Given the description of an element on the screen output the (x, y) to click on. 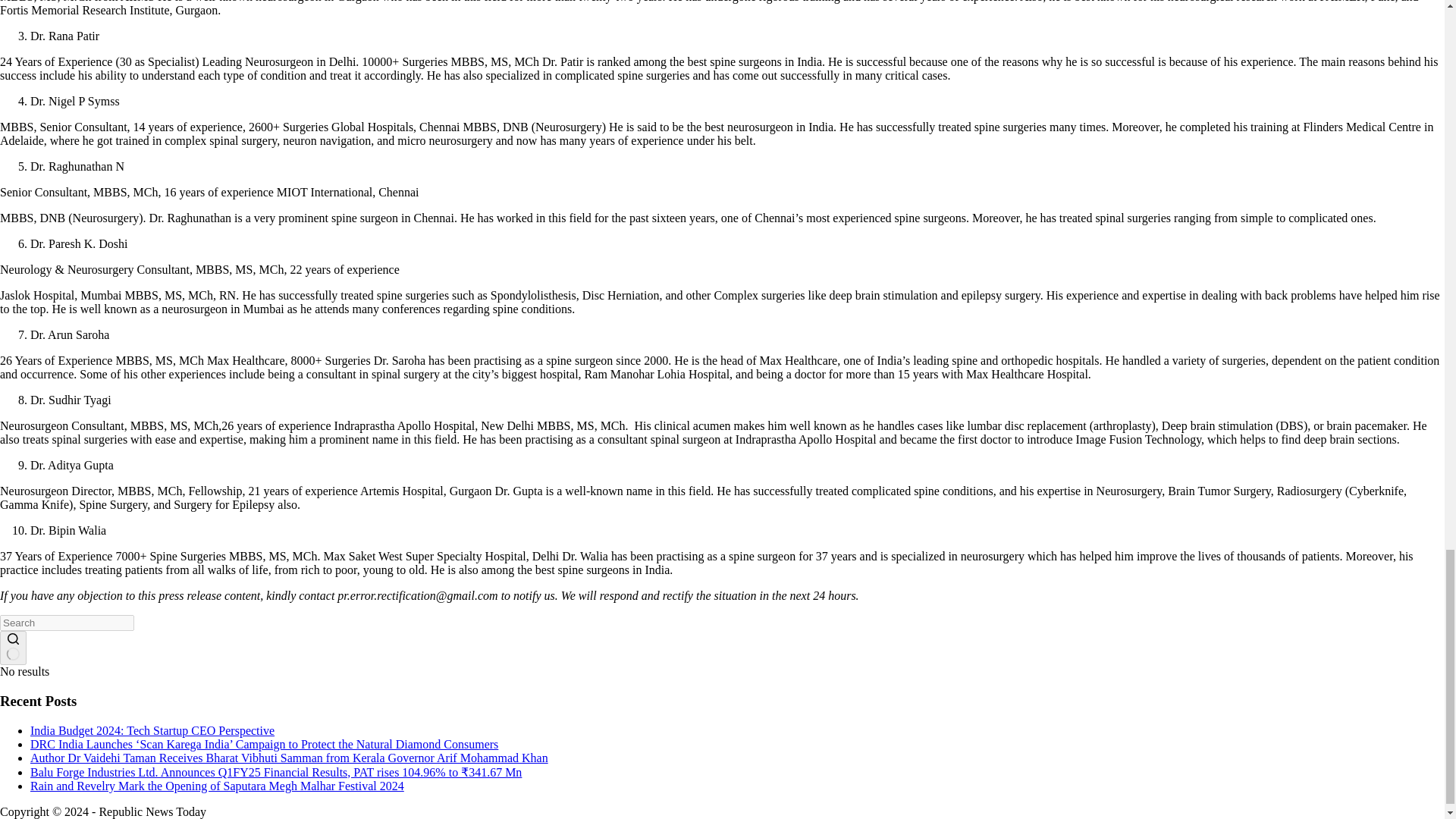
India Budget 2024: Tech Startup CEO Perspective (152, 730)
Search for... (66, 622)
